Given the description of an element on the screen output the (x, y) to click on. 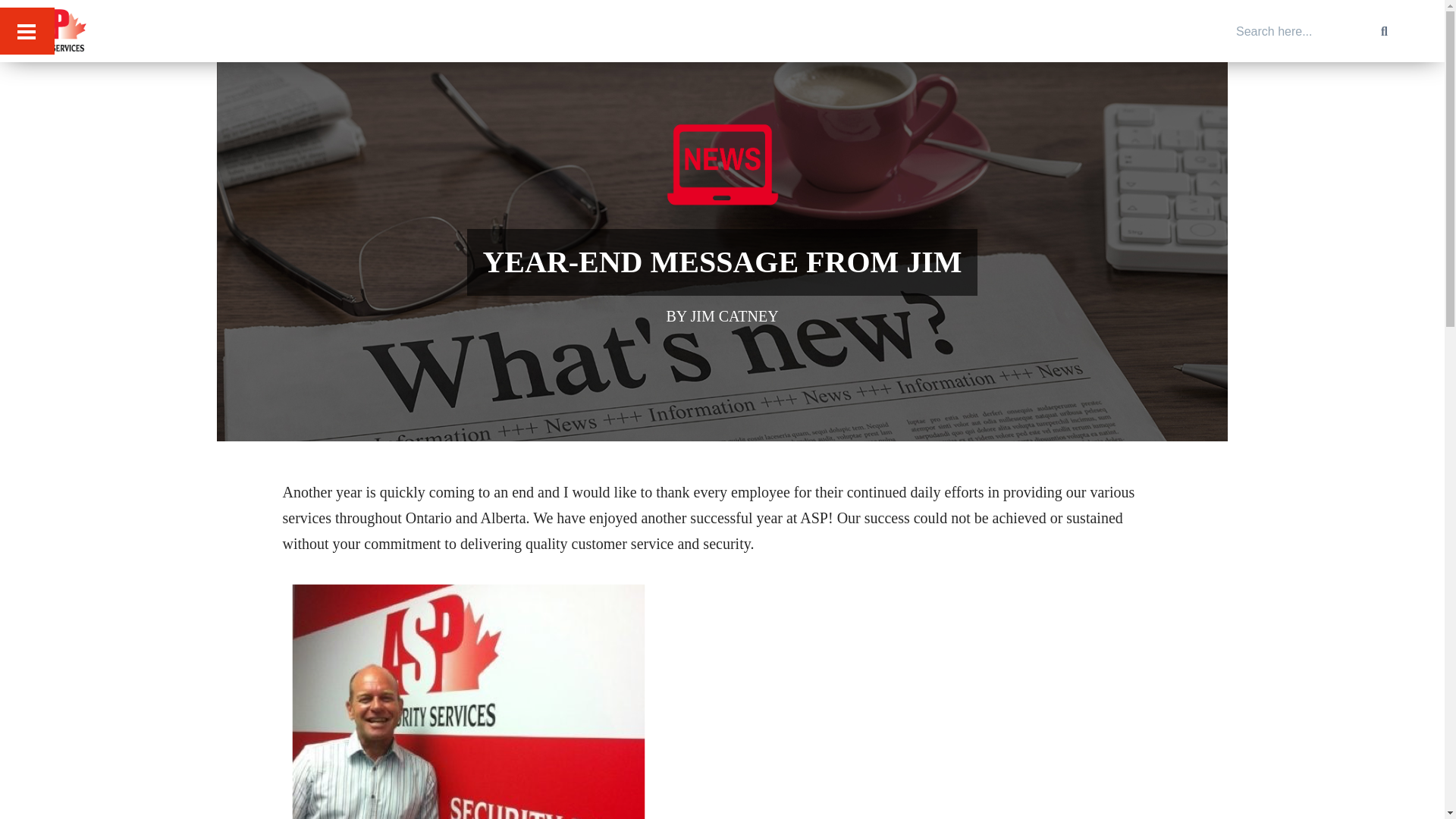
ASP Security Services (107, 65)
